Given the description of an element on the screen output the (x, y) to click on. 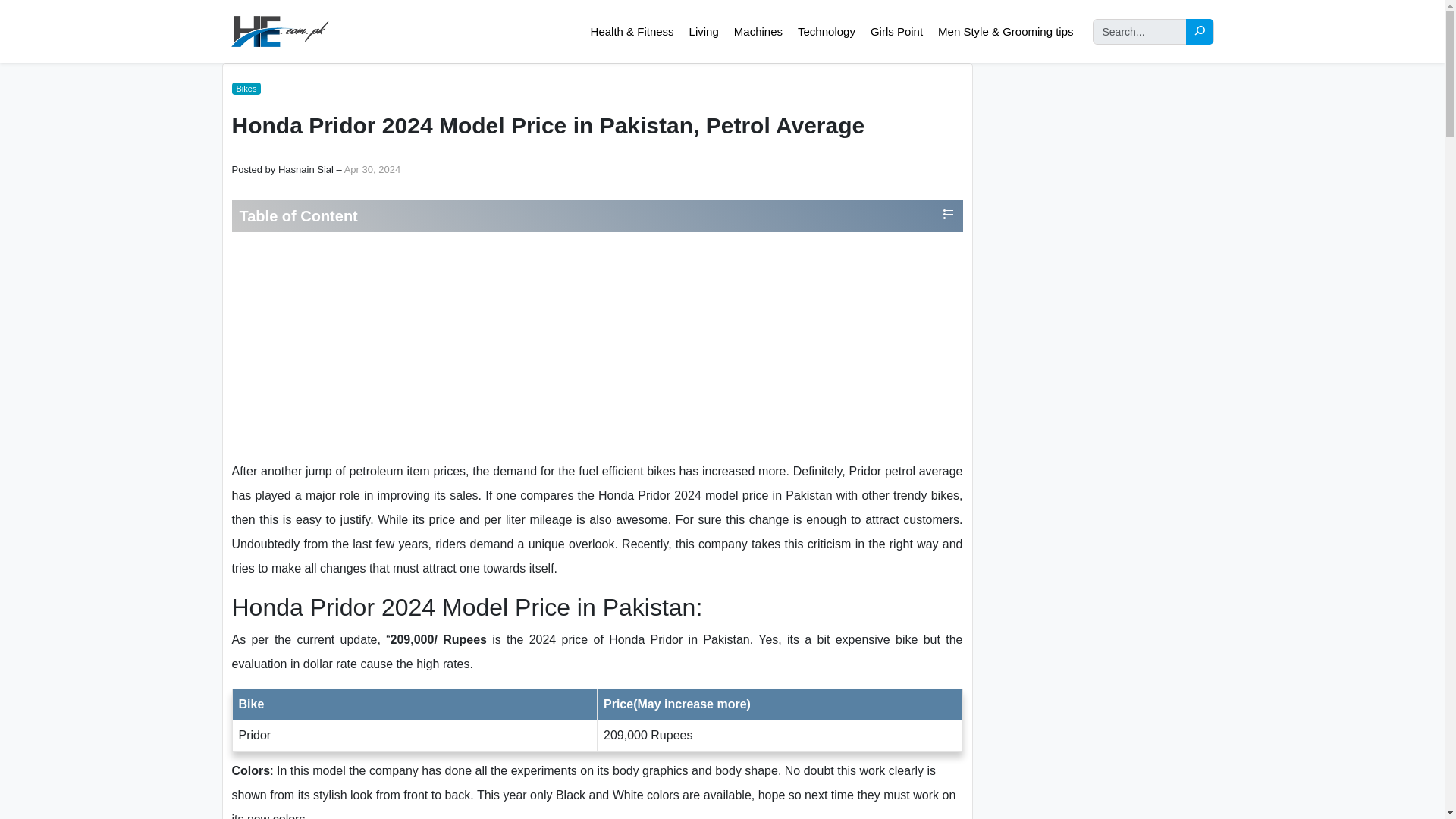
Technology (826, 31)
Machines (758, 31)
Advertisement (596, 345)
Girls Point (896, 31)
Living (703, 31)
Bikes (246, 88)
